Given the description of an element on the screen output the (x, y) to click on. 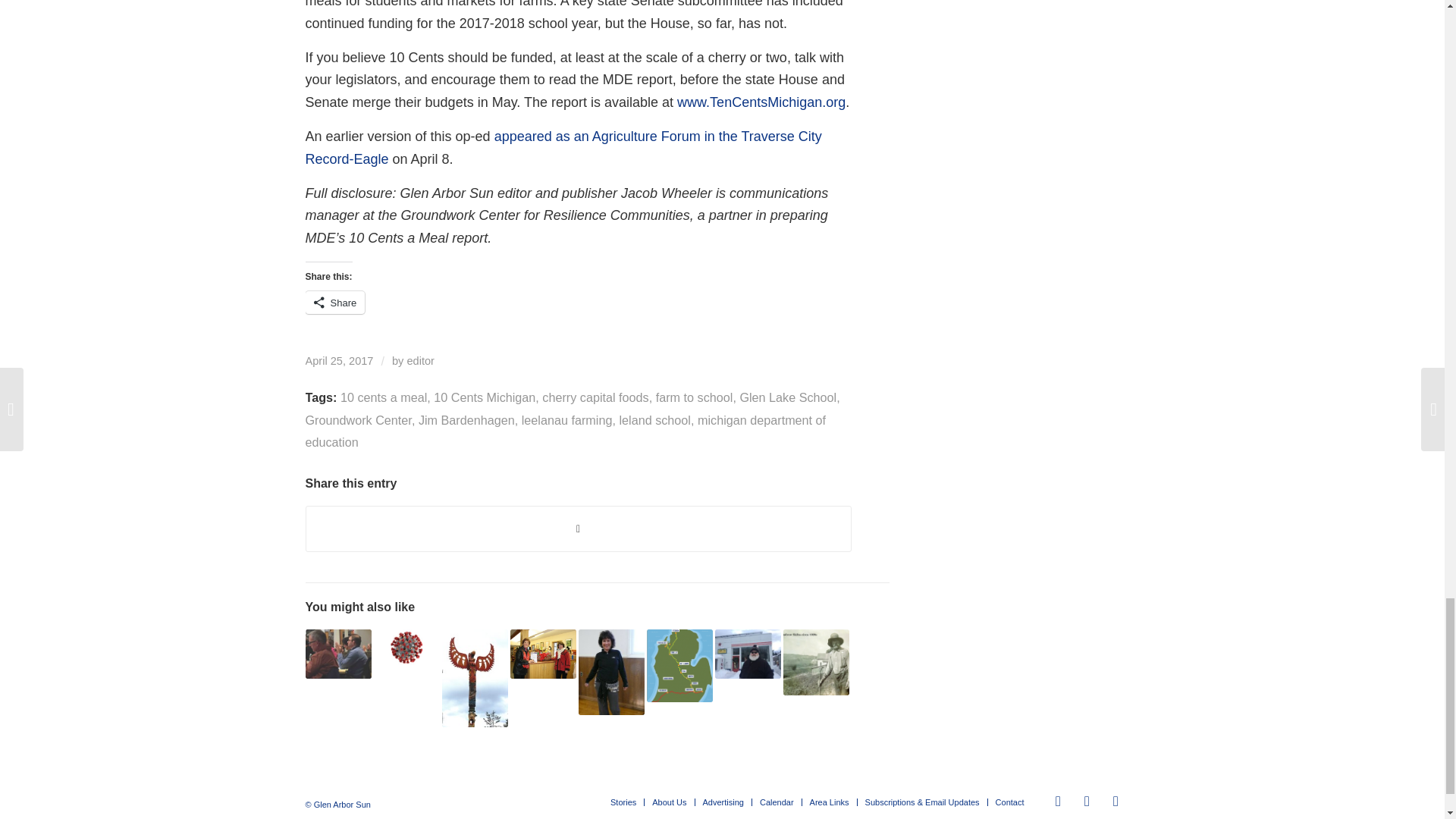
Share (334, 302)
www.TenCentsMichigan.org (761, 102)
